Given the description of an element on the screen output the (x, y) to click on. 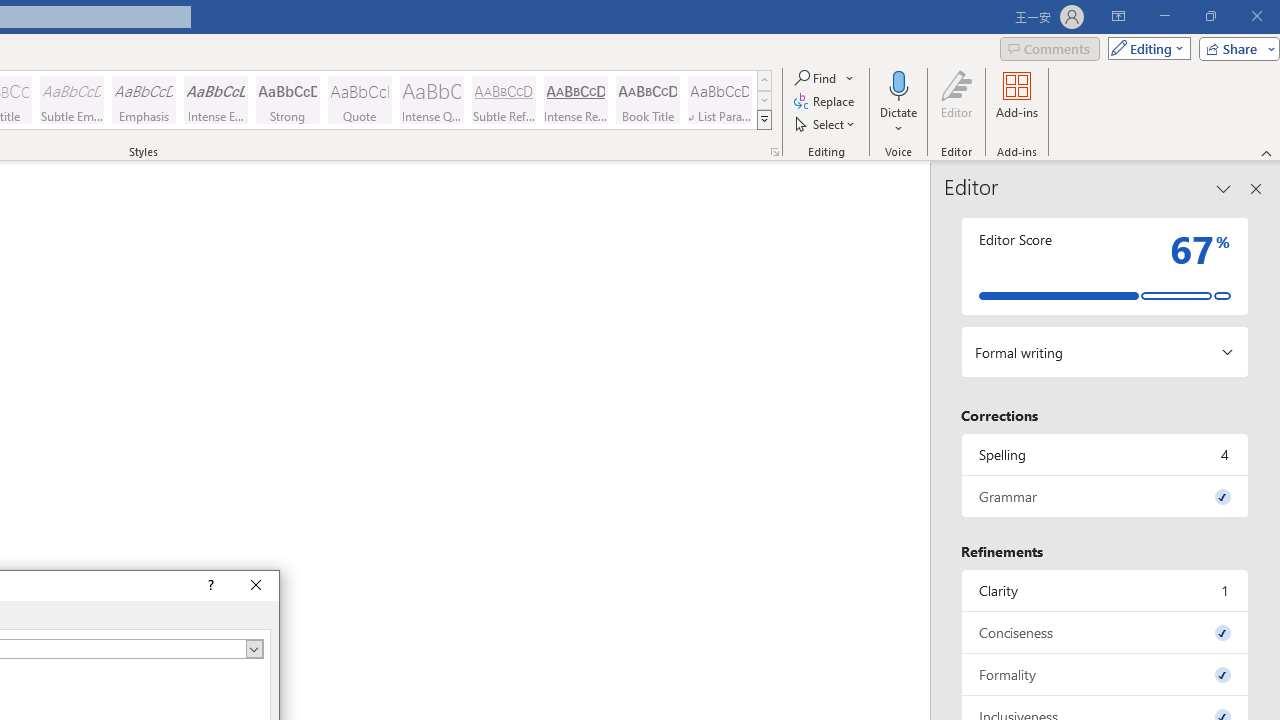
Emphasis (143, 100)
Editor Score 67% (1105, 266)
Subtle Emphasis (71, 100)
Strong (287, 100)
